Given the description of an element on the screen output the (x, y) to click on. 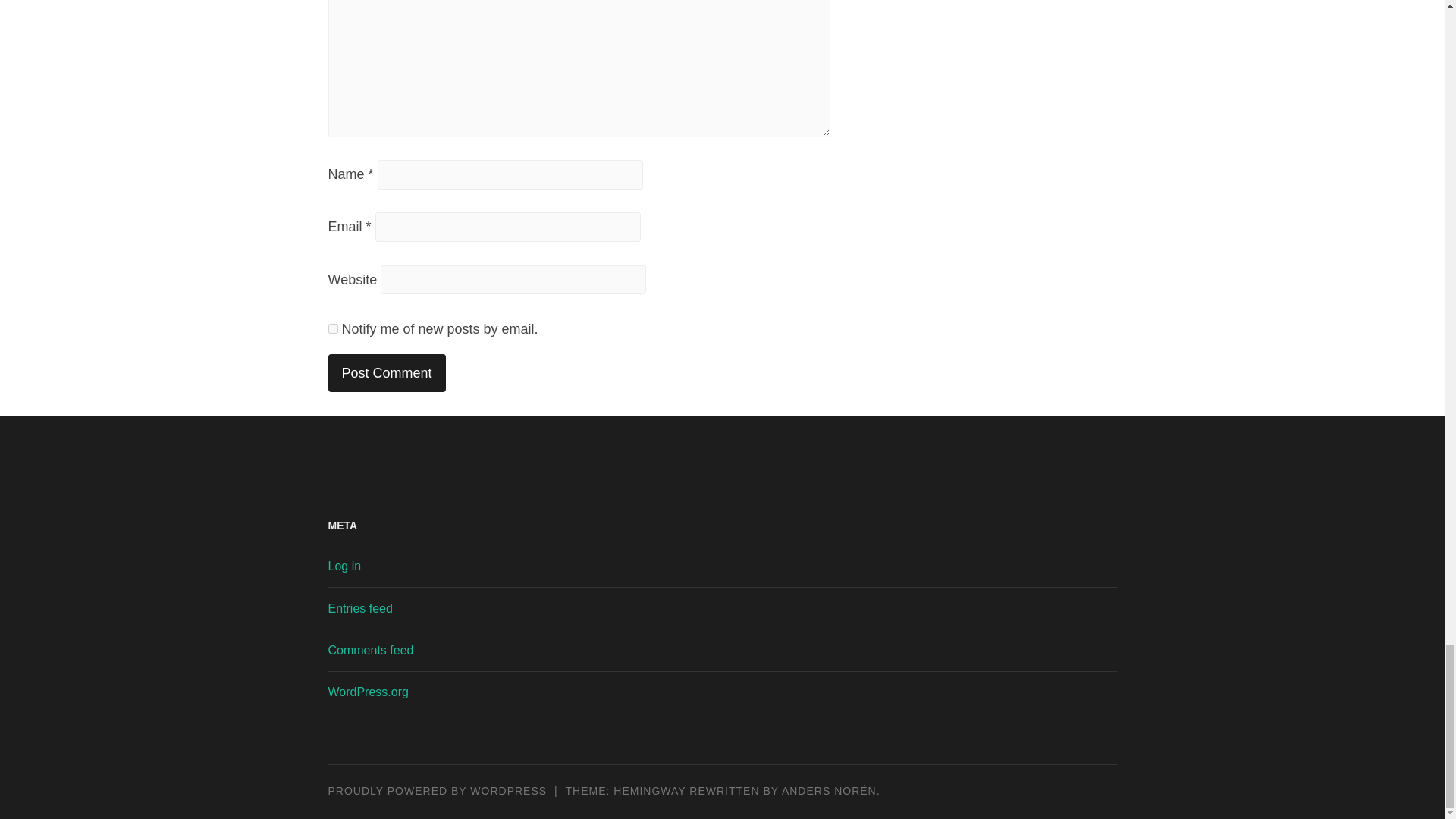
Post Comment (386, 372)
Post Comment (386, 372)
subscribe (332, 328)
